Given the description of an element on the screen output the (x, y) to click on. 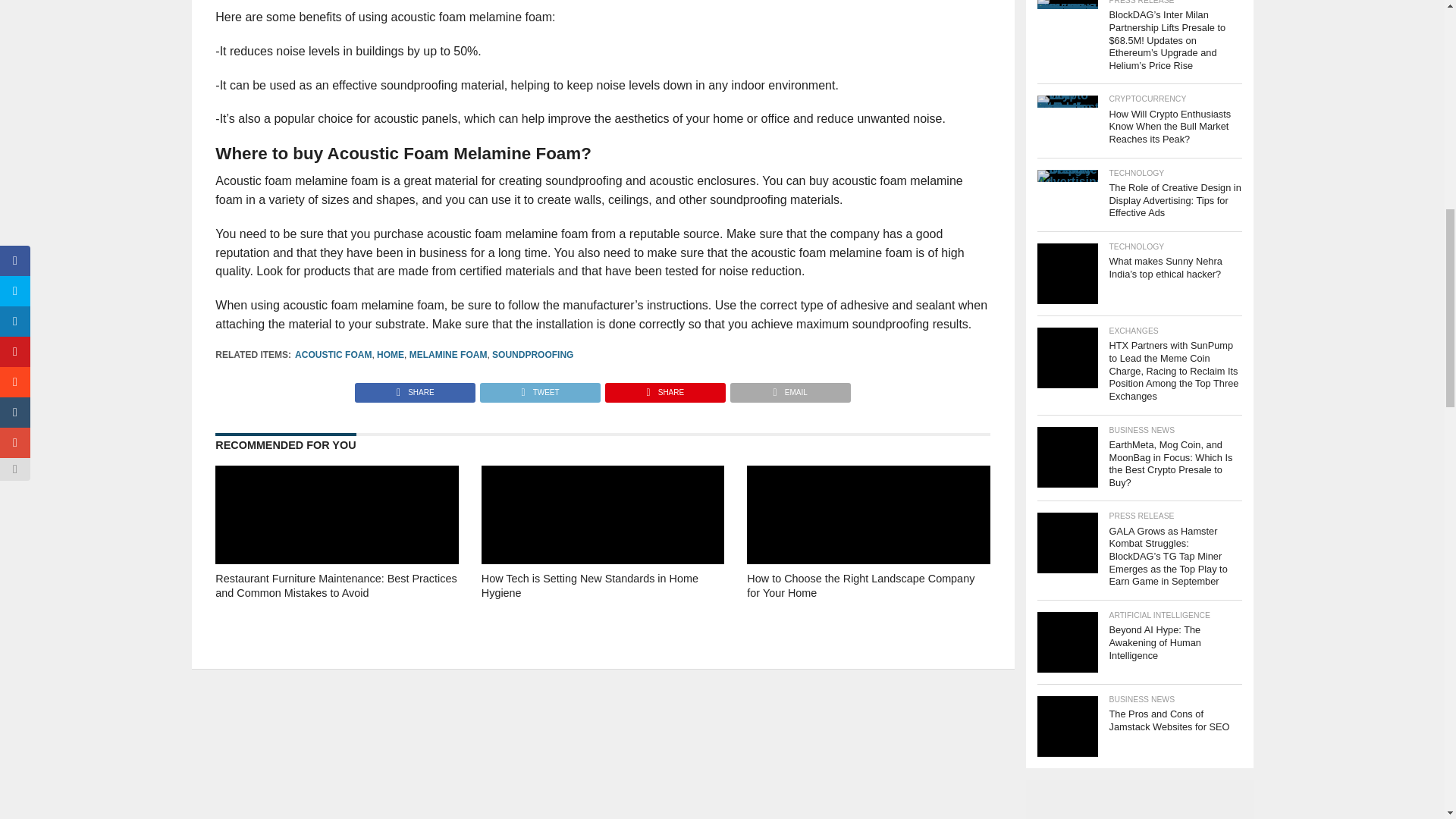
Tweet This Post (539, 388)
How to Choose the Right Landscape Company for Your Home (868, 607)
How Tech is Setting New Standards in Home Hygiene (602, 607)
Share on Facebook (415, 388)
Pin This Post (664, 388)
